Given the description of an element on the screen output the (x, y) to click on. 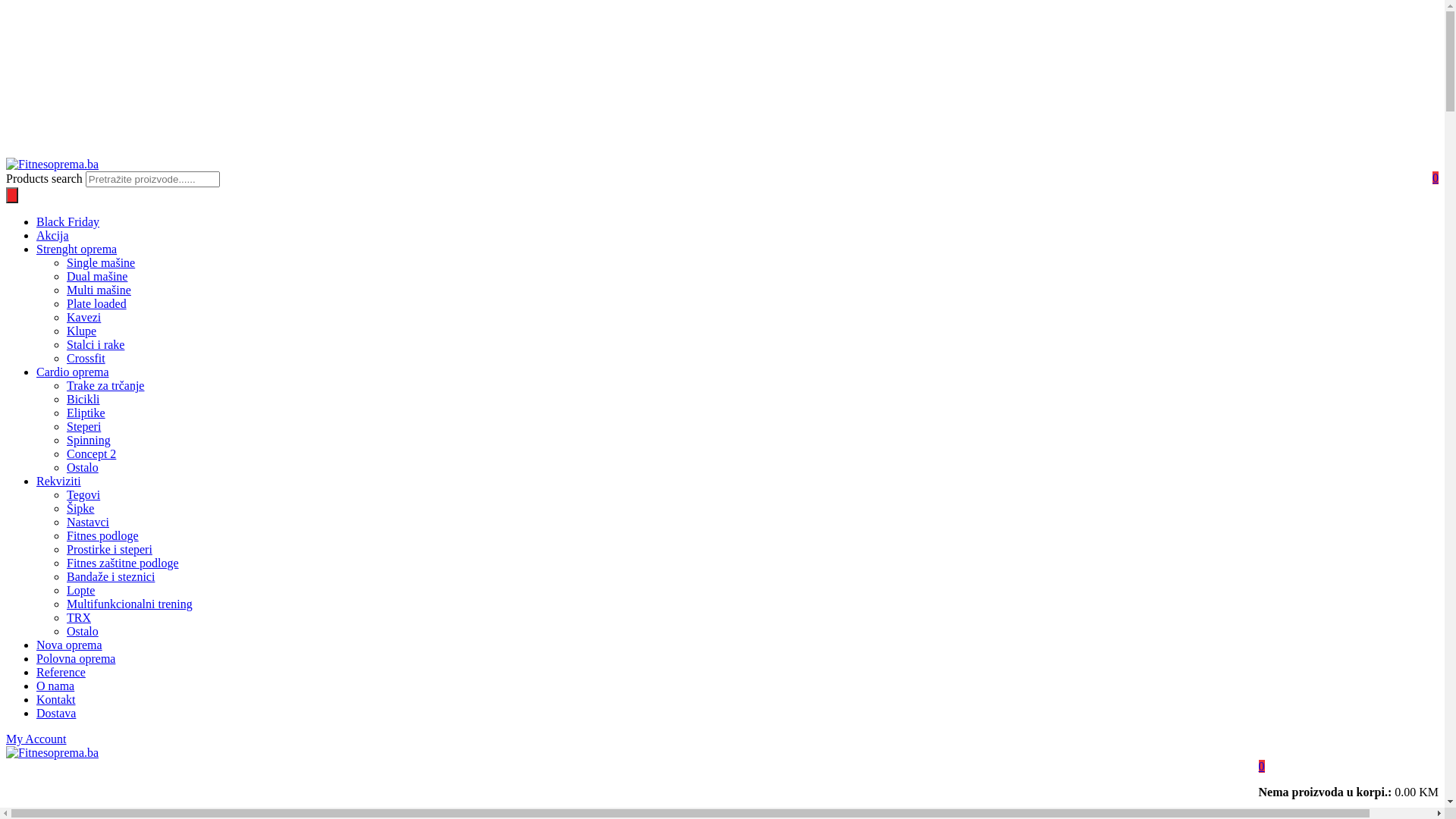
Reference Element type: text (60, 671)
Dostava Element type: text (55, 712)
Akcija Element type: text (52, 235)
Plate loaded Element type: text (96, 303)
Lopte Element type: text (80, 589)
Nova oprema Element type: text (69, 644)
Steperi Element type: text (83, 426)
Fitnes podloge Element type: text (102, 535)
Kavezi Element type: text (83, 316)
Rekviziti Element type: text (58, 480)
Ostalo Element type: text (82, 467)
Kontakt Element type: text (55, 699)
Klupe Element type: text (81, 330)
0 Element type: text (1435, 177)
Concept 2 Element type: text (91, 453)
Nastavci Element type: text (87, 521)
My Account Element type: text (36, 738)
O nama Element type: text (55, 685)
Spinning Element type: text (88, 439)
Strenght oprema Element type: text (76, 248)
Stalci i rake Element type: text (95, 344)
Crossfit Element type: text (85, 357)
Cardio oprema Element type: text (72, 371)
Ostalo Element type: text (82, 630)
Bicikli Element type: text (83, 398)
Eliptike Element type: text (85, 412)
Prostirke i steperi Element type: text (109, 548)
Black Friday Element type: text (67, 221)
Polovna oprema Element type: text (75, 658)
0 Element type: text (1261, 765)
TRX Element type: text (78, 617)
Multifunkcionalni trening Element type: text (129, 603)
Tegovi Element type: text (83, 494)
